Given the description of an element on the screen output the (x, y) to click on. 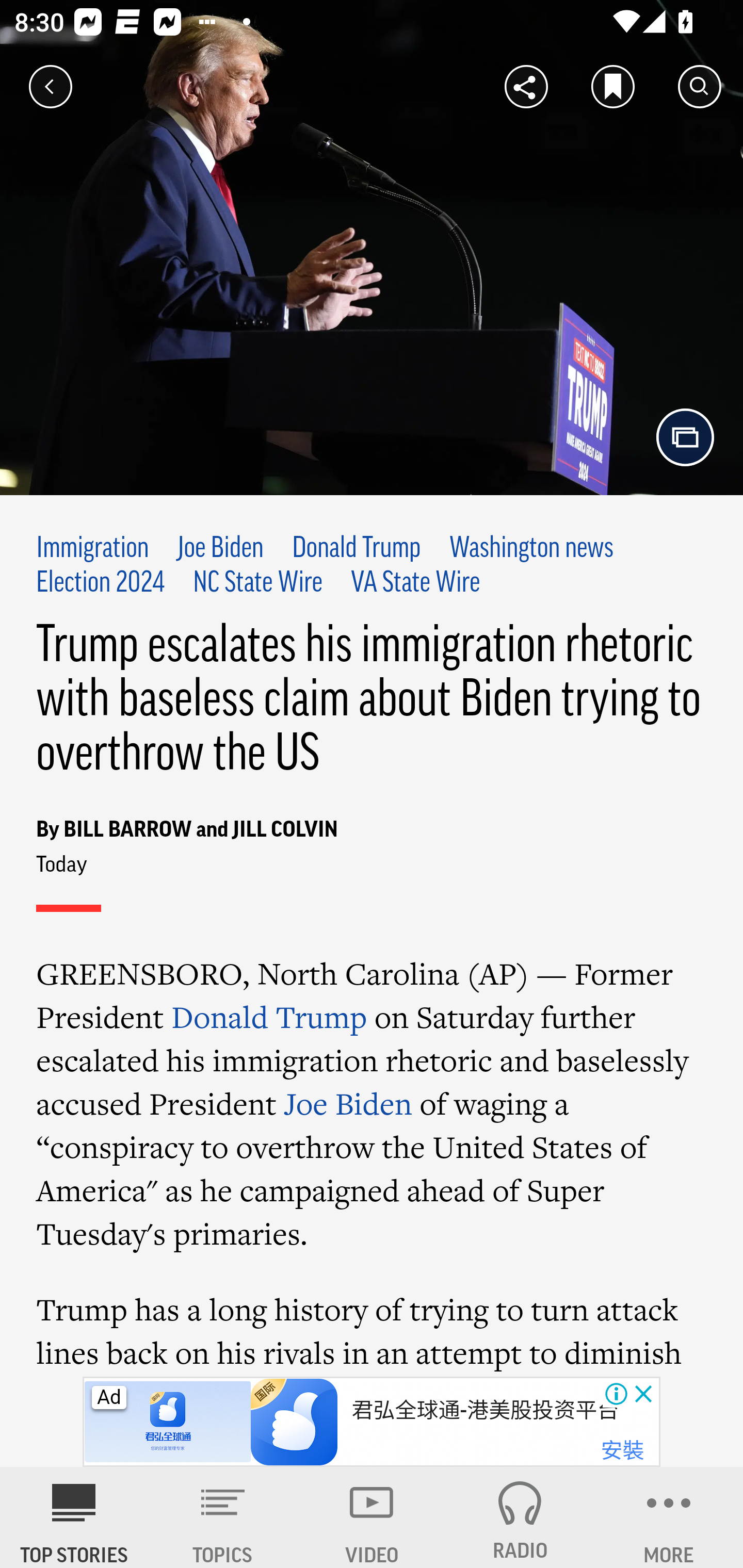
Immigration (92, 549)
Joe Biden (219, 549)
Donald Trump (356, 549)
Washington news (530, 549)
Election 2024 (101, 584)
NC State Wire (257, 584)
VA State Wire (415, 584)
Donald Trump (268, 1016)
Joe Biden (348, 1102)
BEA Mobile 東亞手機銀行 (473, 1410)
安裝 (621, 1450)
安裝 (621, 1450)
AP News TOP STORIES (74, 1517)
TOPICS (222, 1517)
VIDEO (371, 1517)
RADIO (519, 1517)
MORE (668, 1517)
